Given the description of an element on the screen output the (x, y) to click on. 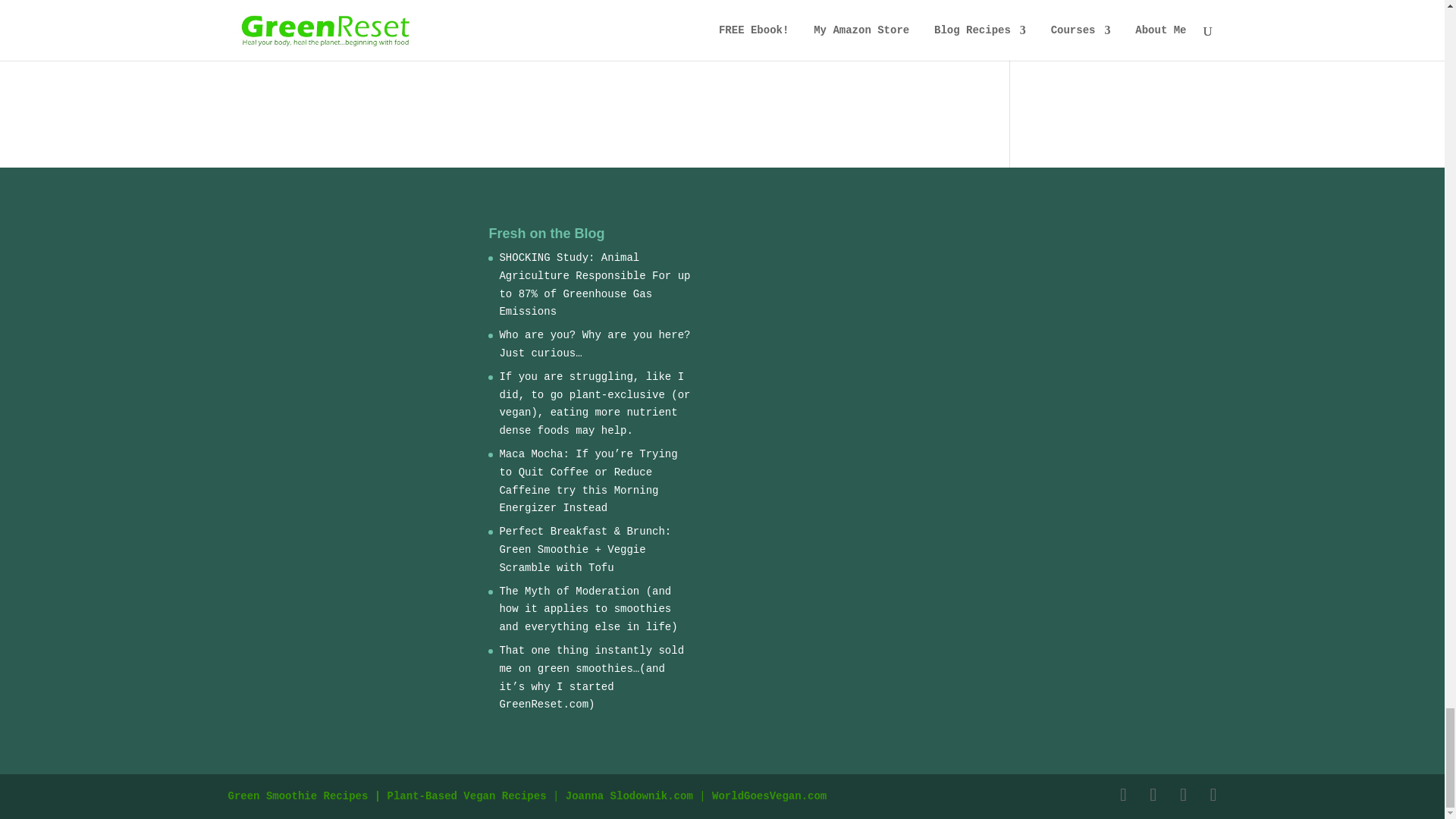
Submit Comment (875, 28)
